Given the description of an element on the screen output the (x, y) to click on. 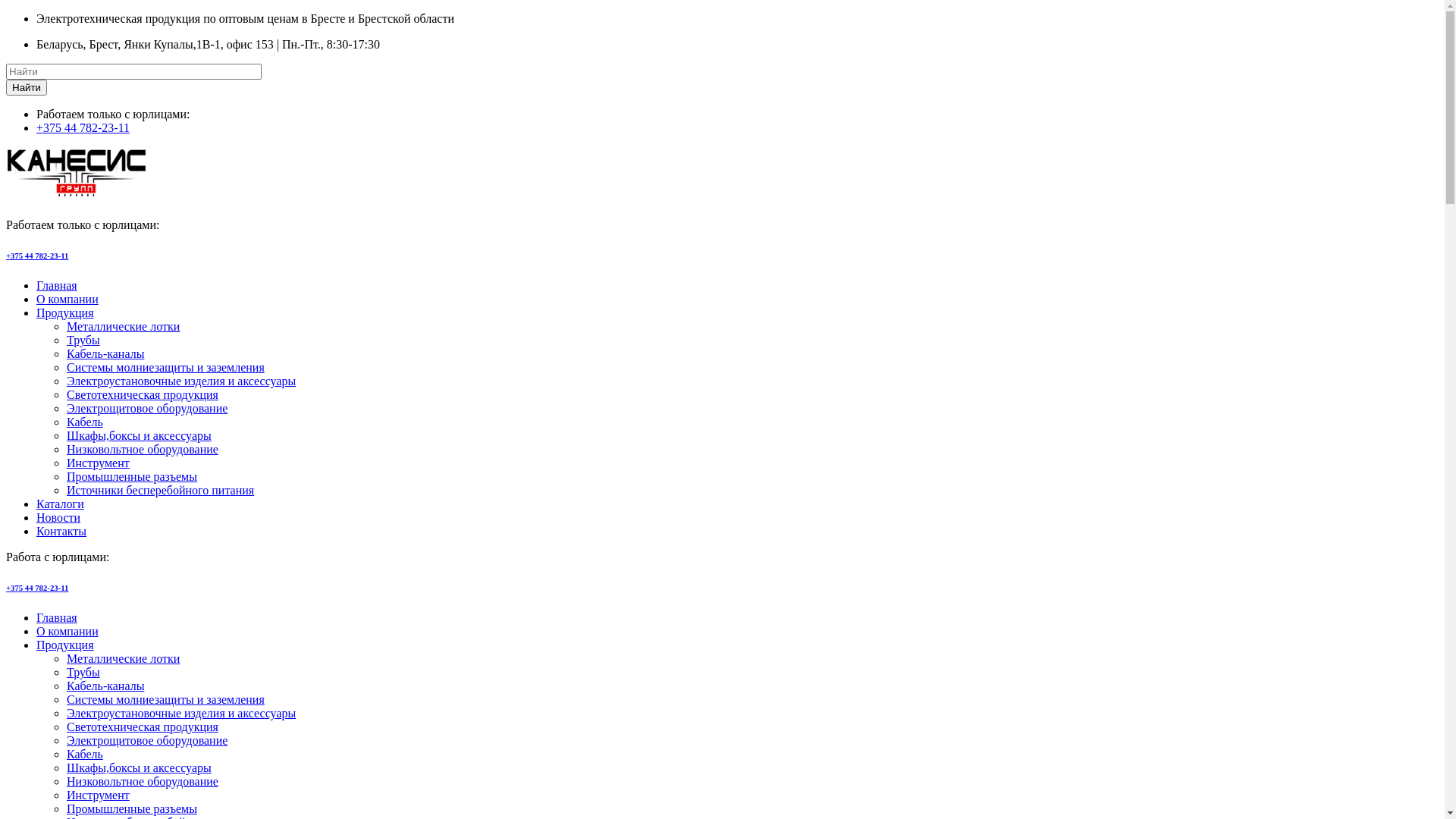
+375 44 782-23-11 Element type: text (82, 127)
+375 44 782-23-11 Element type: text (37, 587)
+375 44 782-23-11 Element type: text (37, 255)
